Given the description of an element on the screen output the (x, y) to click on. 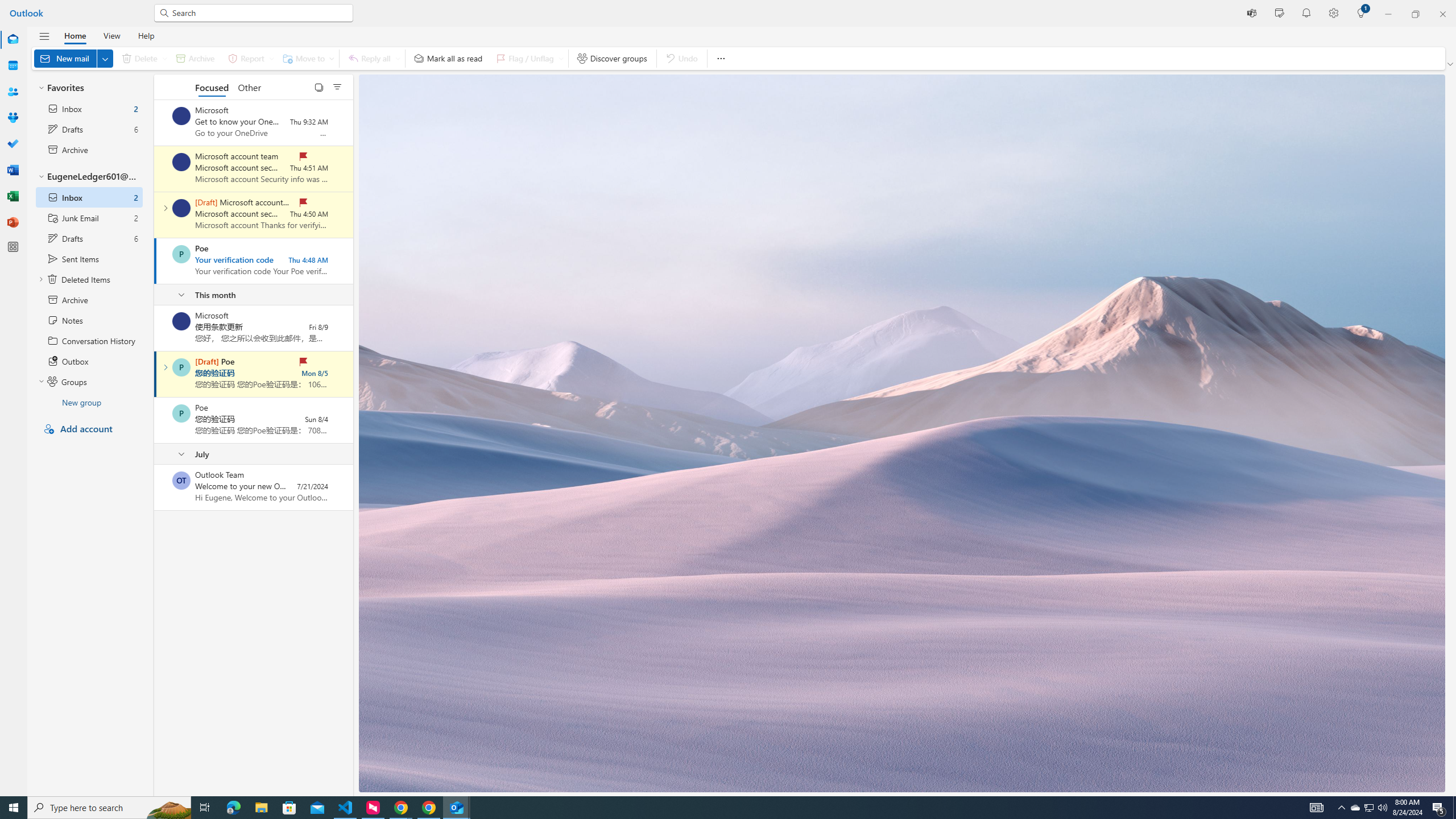
Filter (336, 86)
People (12, 91)
More options (720, 58)
View (111, 35)
Expand to see more report options (271, 58)
Word (12, 169)
Expand to see flag options (561, 58)
Focused (212, 86)
Poe (180, 413)
Select (318, 86)
Search for email, meetings, files and more. (258, 12)
